Given the description of an element on the screen output the (x, y) to click on. 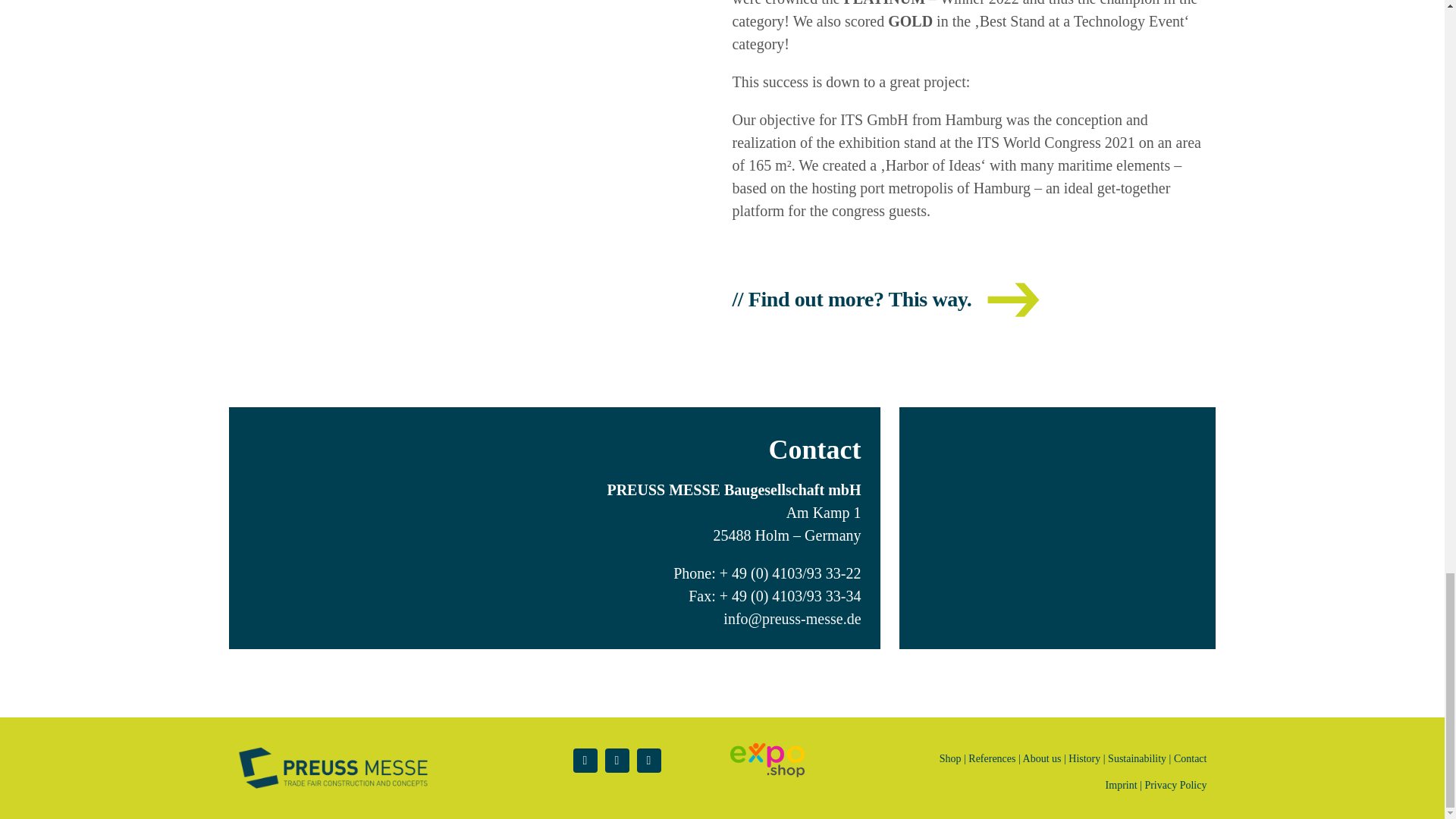
Shop (949, 758)
Facebook (584, 760)
Preuss Messe Logo Rgb Subline Petrol En (333, 767)
Instagram (616, 760)
References (991, 758)
LinkedIn (649, 760)
